Given the description of an element on the screen output the (x, y) to click on. 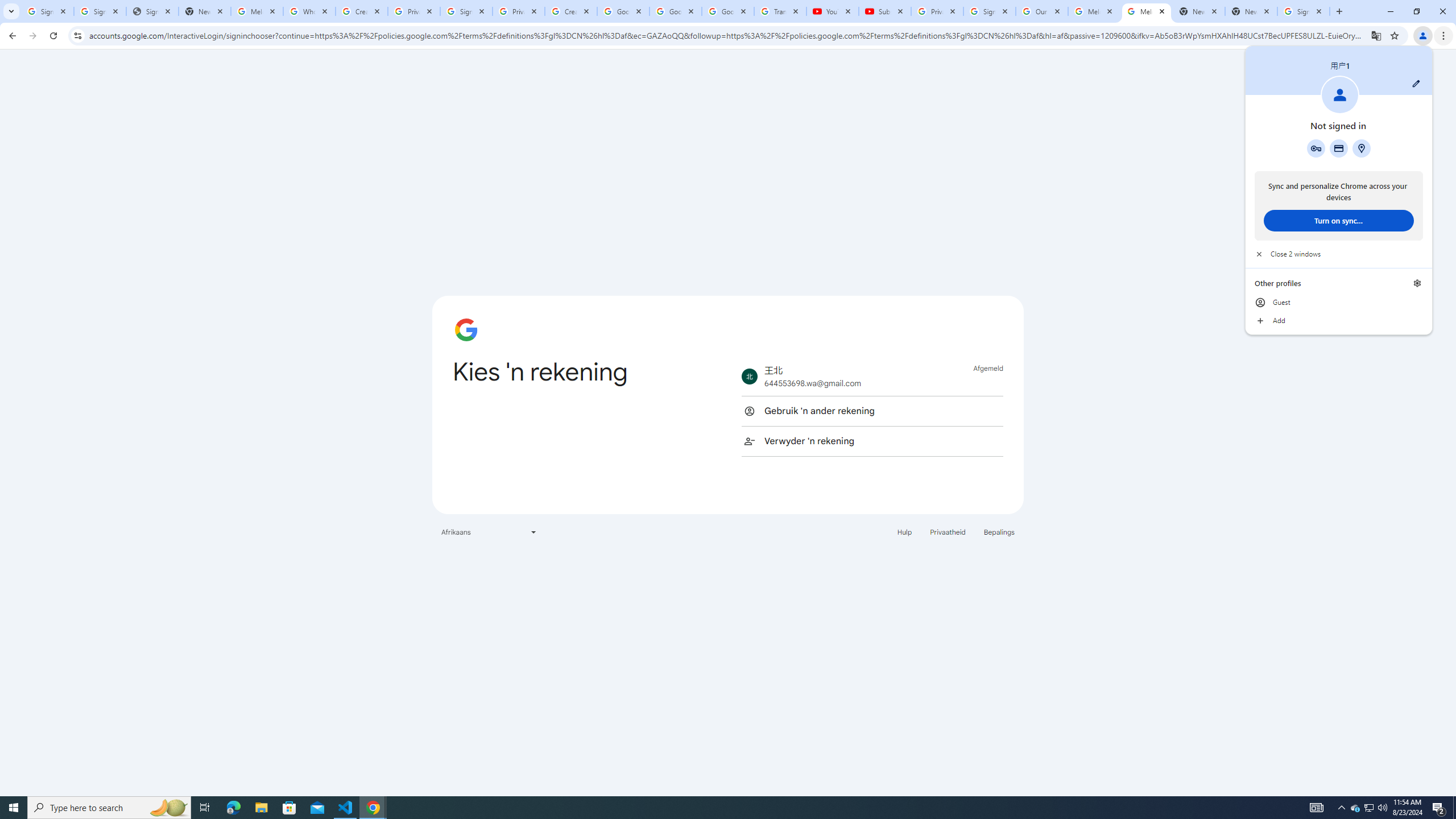
Back (59, 54)
Documents (492, 127)
New (59, 118)
Print (59, 504)
Account (59, 722)
Save As (59, 380)
Recent (288, 104)
This PC (288, 235)
